Given the description of an element on the screen output the (x, y) to click on. 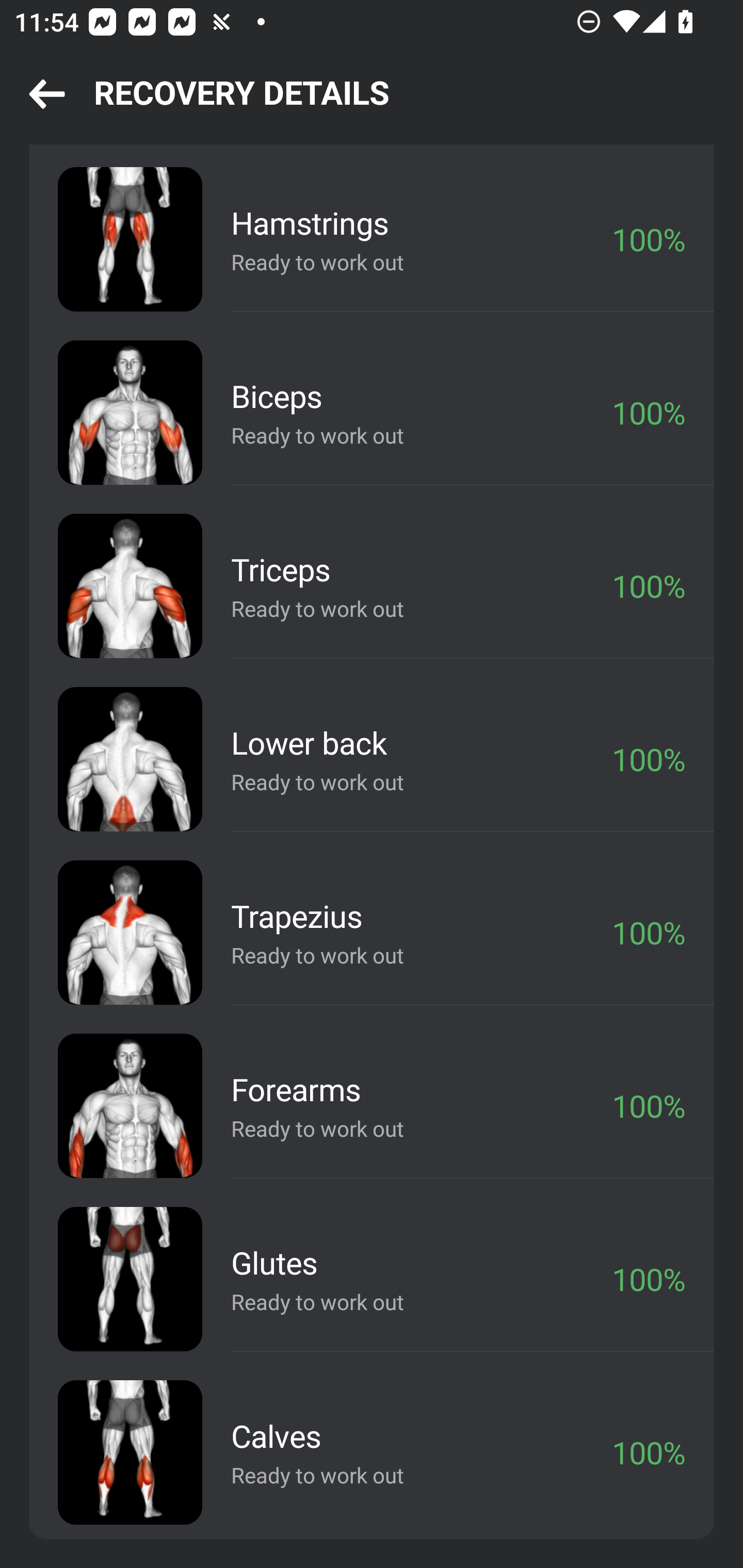
Navigation icon (46, 94)
